Given the description of an element on the screen output the (x, y) to click on. 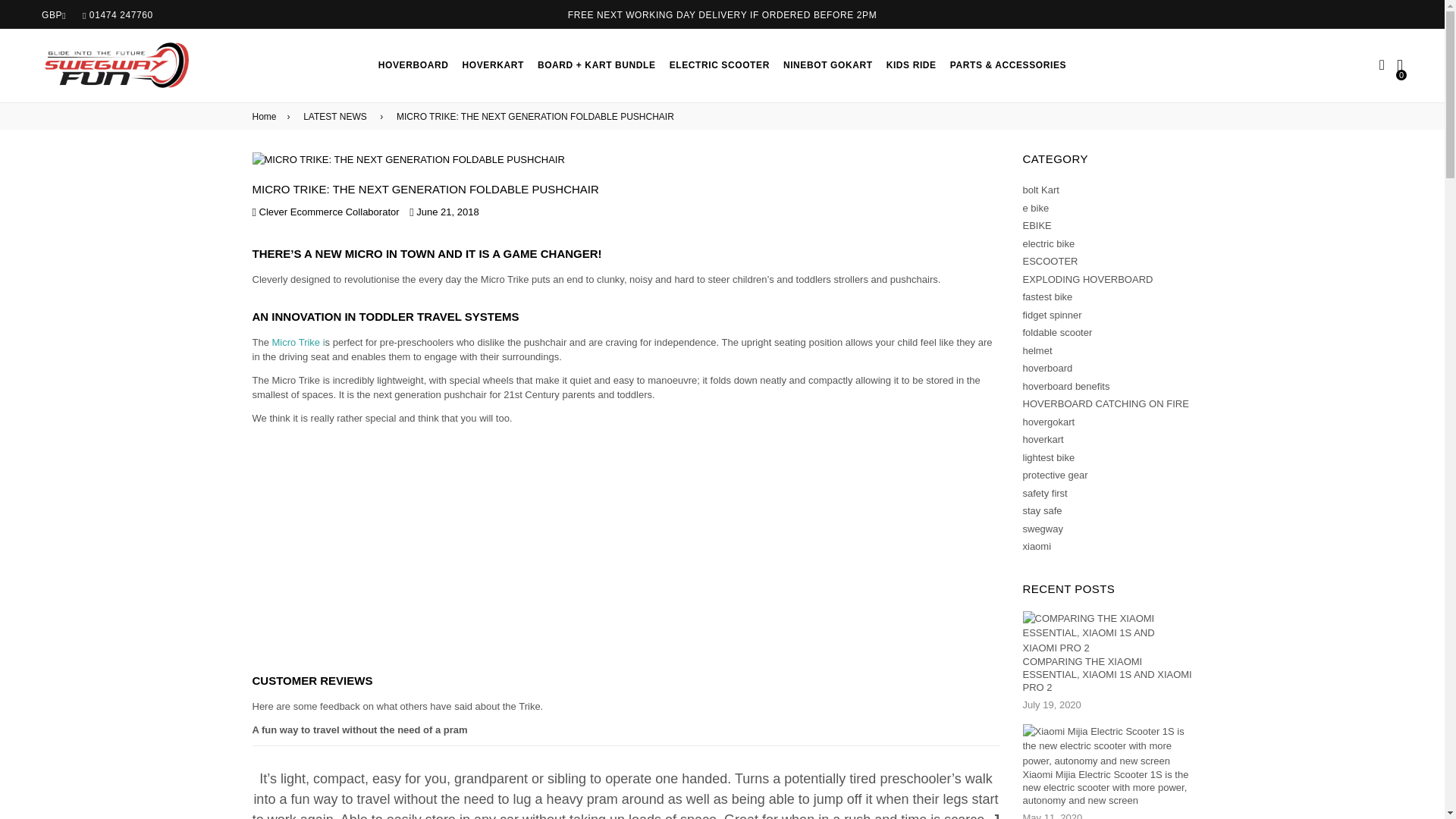
KIDS RIDE (911, 64)
Show articles tagged fidget spinner (1051, 315)
Show articles tagged bolt Kart (1040, 189)
Search (1381, 64)
Back to the home page (266, 116)
HOVERKART (491, 64)
NINEBOT GOKART (827, 64)
Show articles tagged e bike (1035, 207)
0 (1399, 64)
Show articles tagged EBIKE (1036, 225)
Show articles tagged ESCOOTER (1049, 260)
ELECTRIC SCOOTER (719, 64)
Cart (1399, 64)
Show articles tagged foldable scooter (1057, 332)
HOVERBOARD (413, 64)
